Given the description of an element on the screen output the (x, y) to click on. 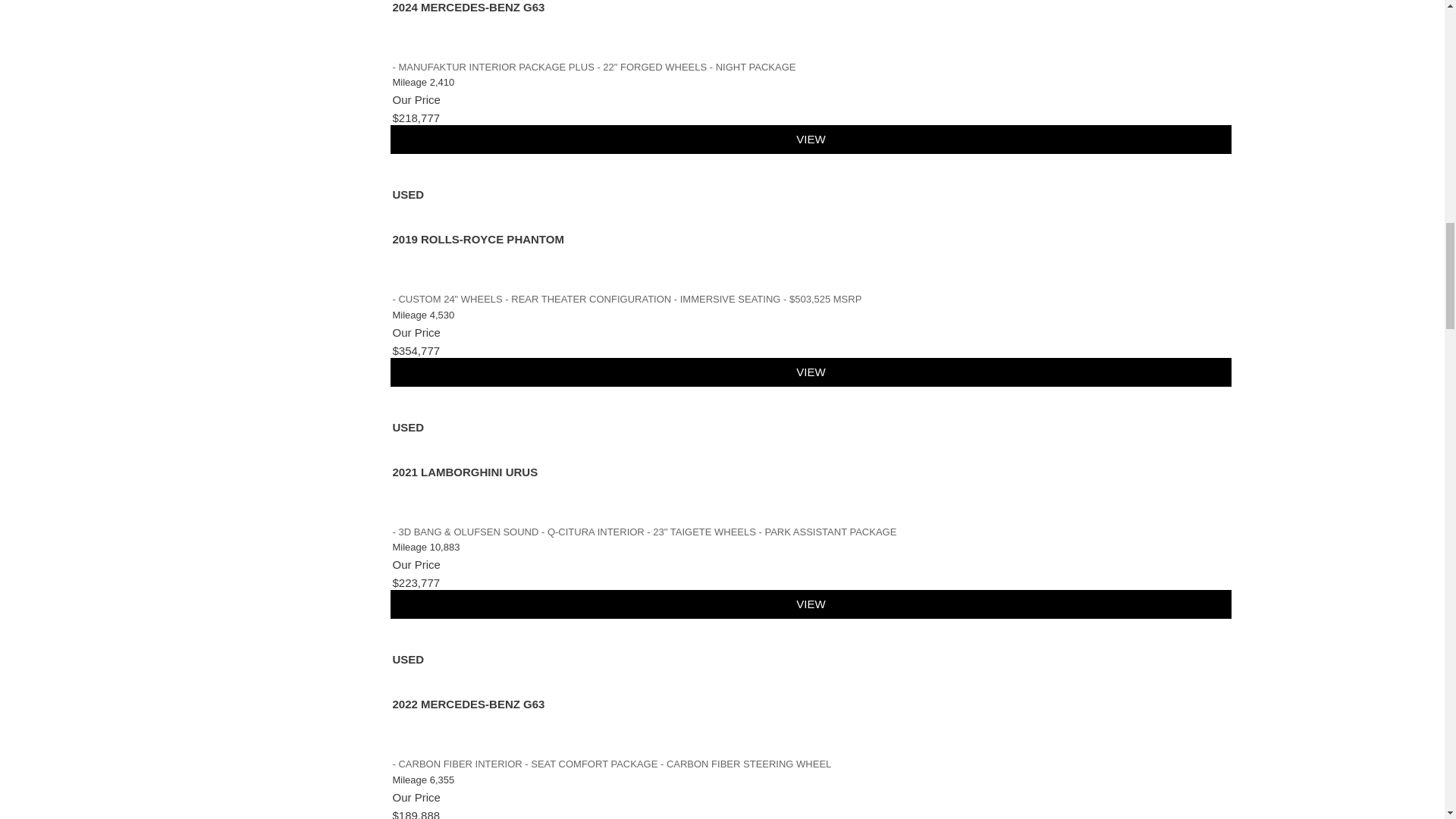
Trim (594, 66)
